Given the description of an element on the screen output the (x, y) to click on. 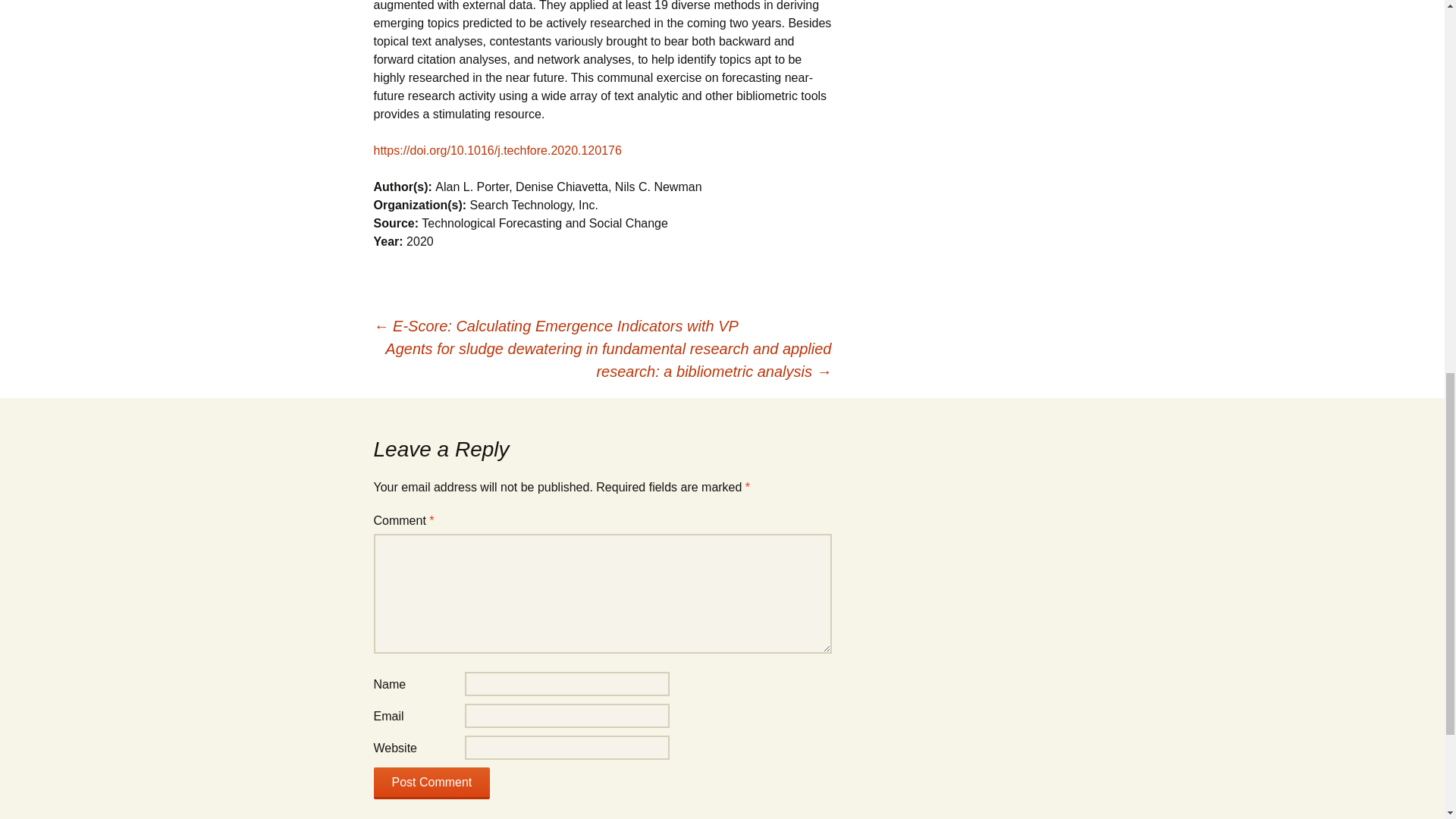
Post Comment (430, 783)
